Given the description of an element on the screen output the (x, y) to click on. 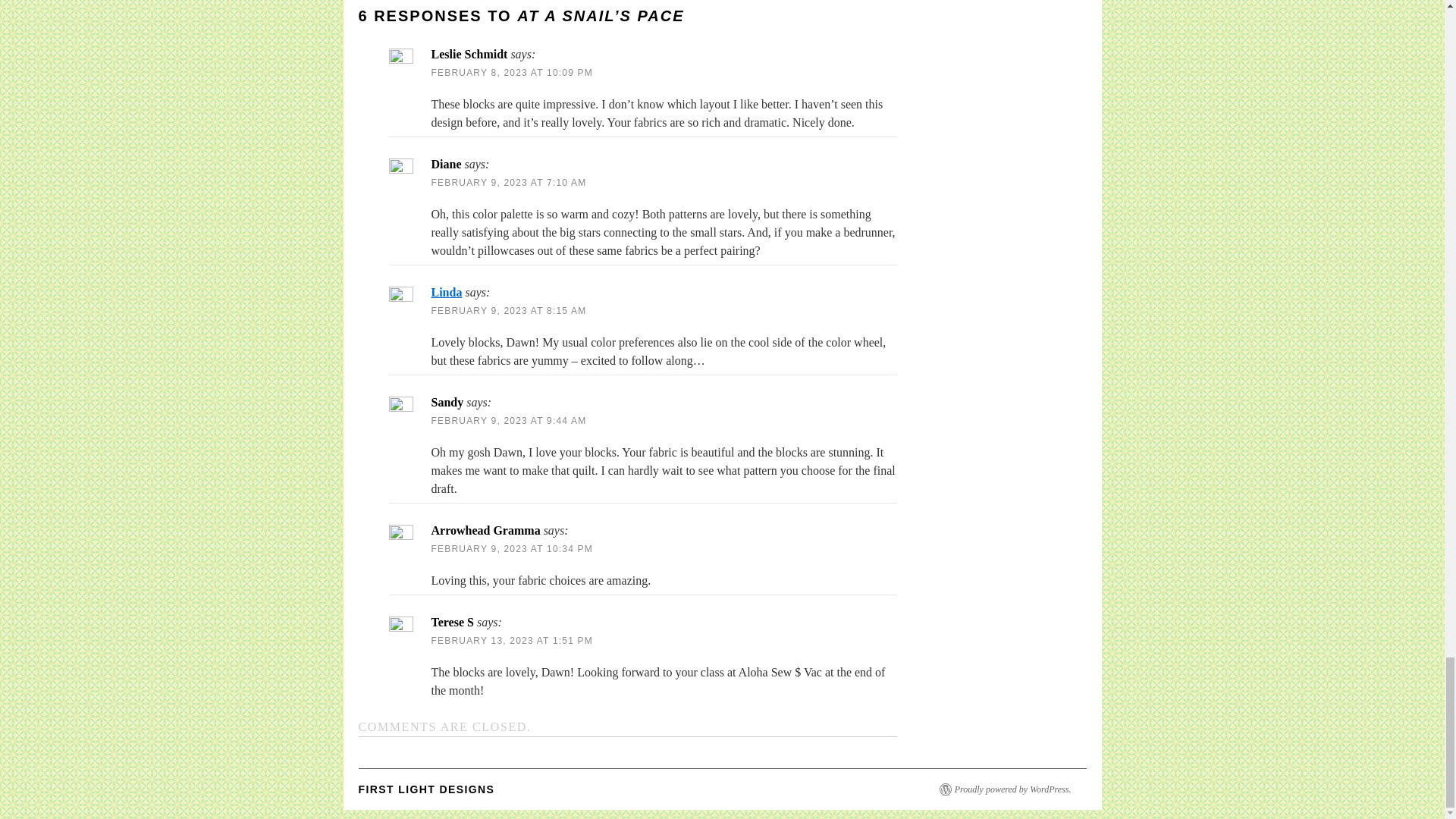
FEBRUARY 8, 2023 AT 10:09 PM (511, 72)
Semantic Personal Publishing Platform (1012, 788)
FEBRUARY 9, 2023 AT 7:10 AM (508, 182)
Linda (445, 291)
First Light Designs (426, 788)
FEBRUARY 9, 2023 AT 8:15 AM (508, 310)
